Given the description of an element on the screen output the (x, y) to click on. 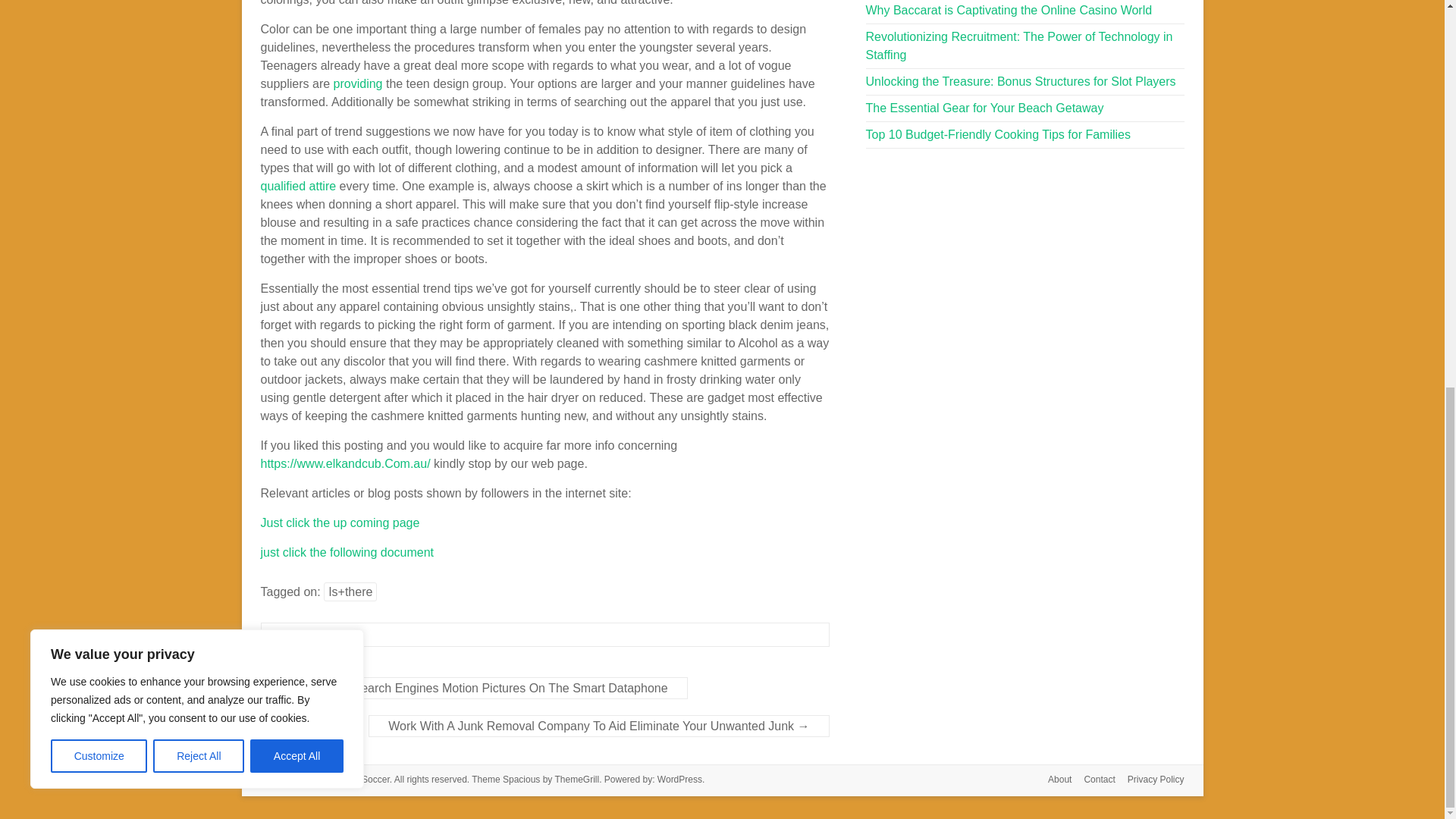
Friday Soccer (360, 778)
WordPress (679, 778)
Just click the up coming page (340, 522)
Reject All (198, 23)
Customize (98, 23)
Spacious (521, 778)
just click the following document (346, 552)
Accept All (296, 23)
providing (357, 83)
qualified attire (298, 185)
